Given the description of an element on the screen output the (x, y) to click on. 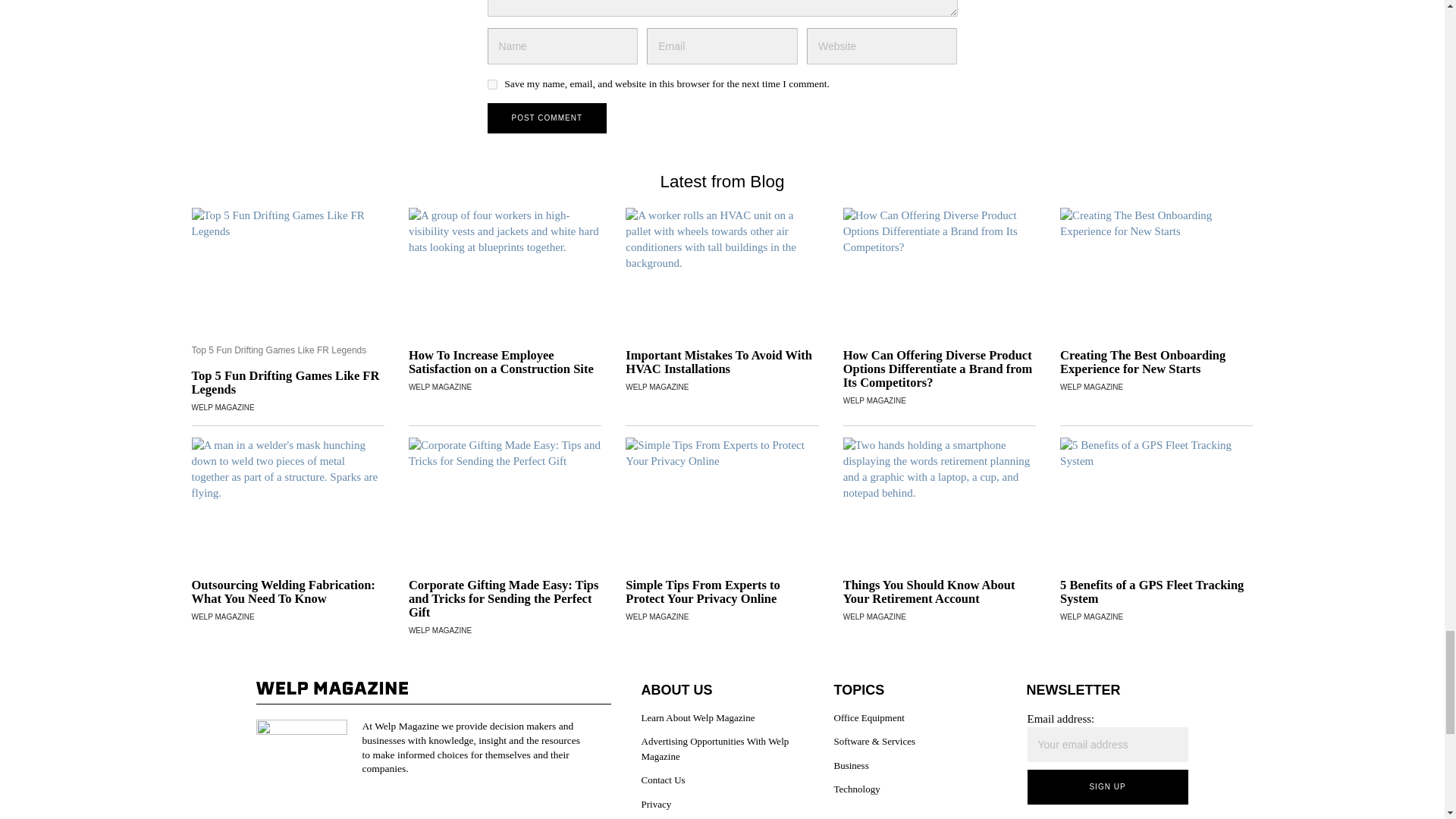
yes (491, 84)
Post Comment (545, 118)
Sign up (1107, 786)
